Given the description of an element on the screen output the (x, y) to click on. 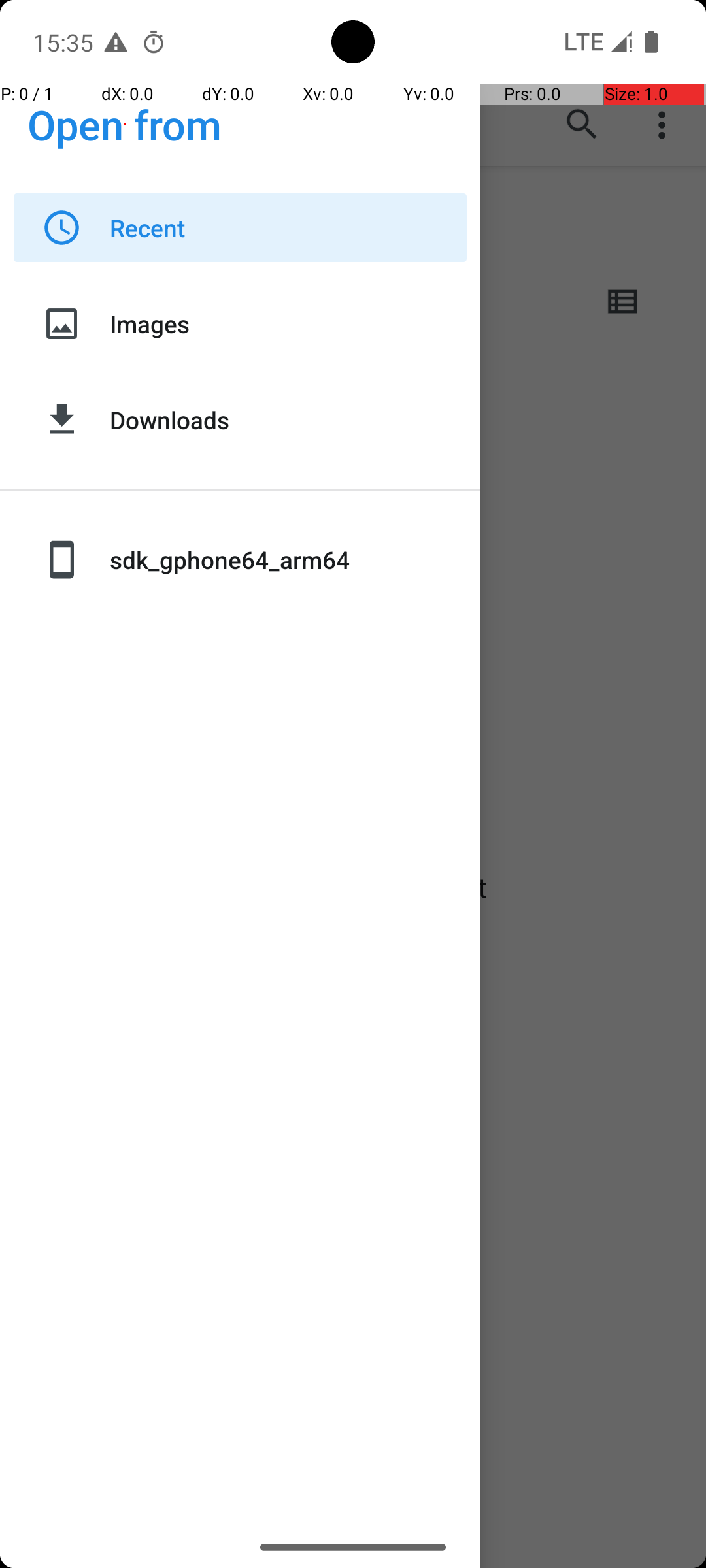
Open from Element type: android.widget.TextView (124, 124)
